Given the description of an element on the screen output the (x, y) to click on. 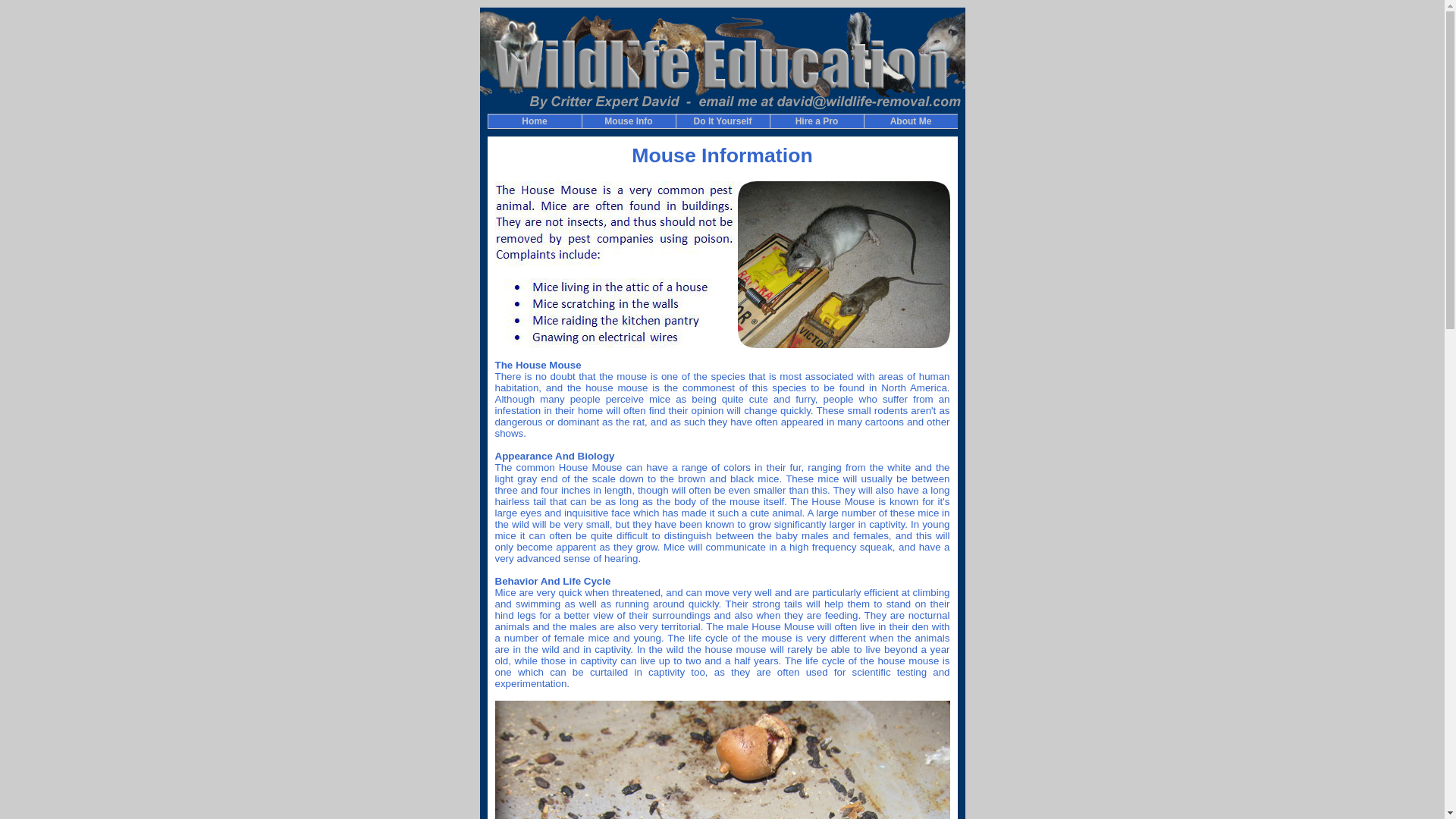
Hire a Pro (816, 120)
Home (534, 120)
About Me (910, 120)
Mouse Info (628, 120)
Do It Yourself (722, 120)
